Given the description of an element on the screen output the (x, y) to click on. 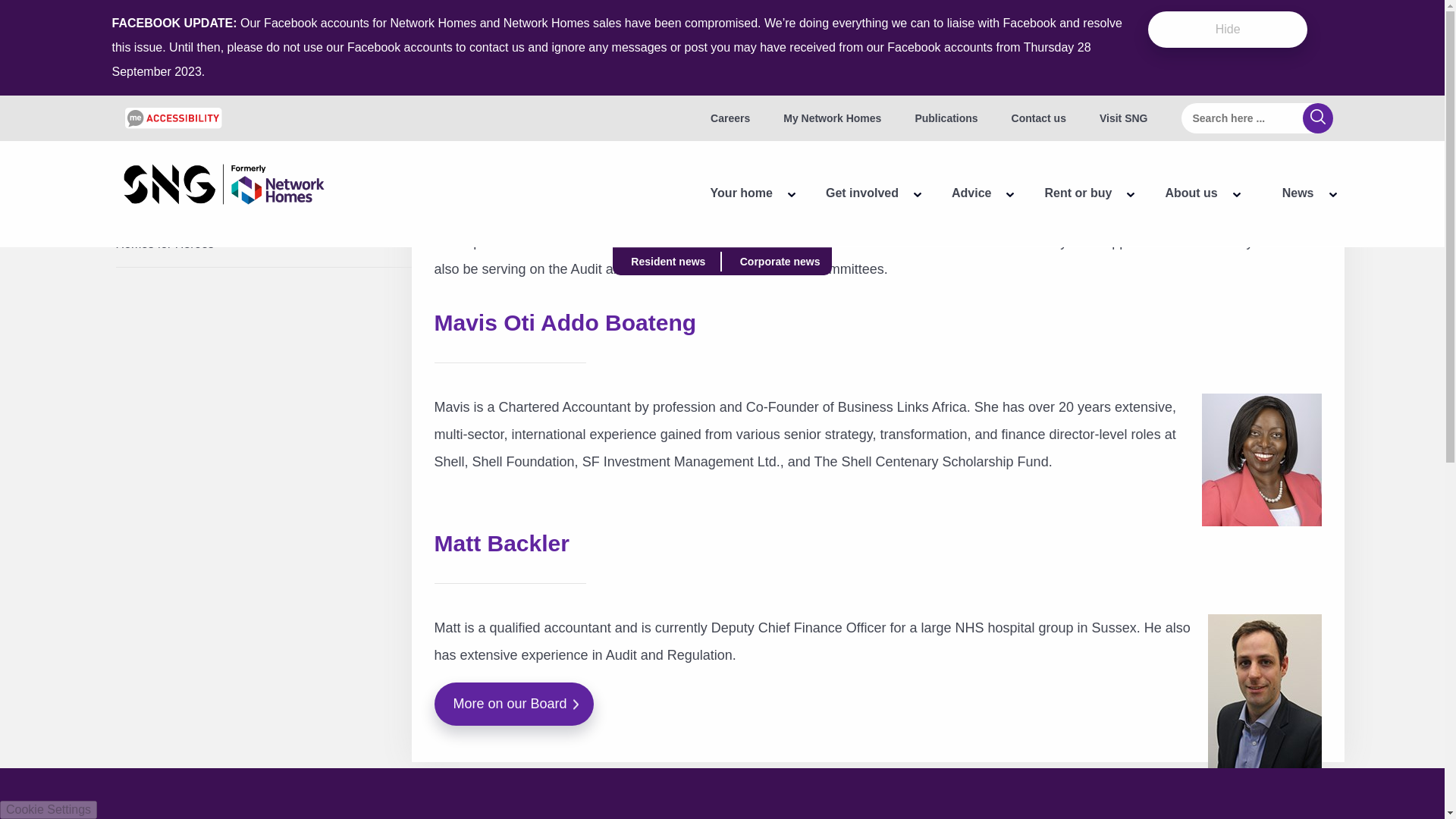
Search (1318, 118)
Hide (1227, 29)
Careers (729, 118)
Contact us (1038, 118)
Publications (945, 118)
My Network Homes (831, 118)
Visit SNG (1123, 118)
Home (222, 185)
Cookie Settings (48, 809)
Get involved (854, 192)
